Given the description of an element on the screen output the (x, y) to click on. 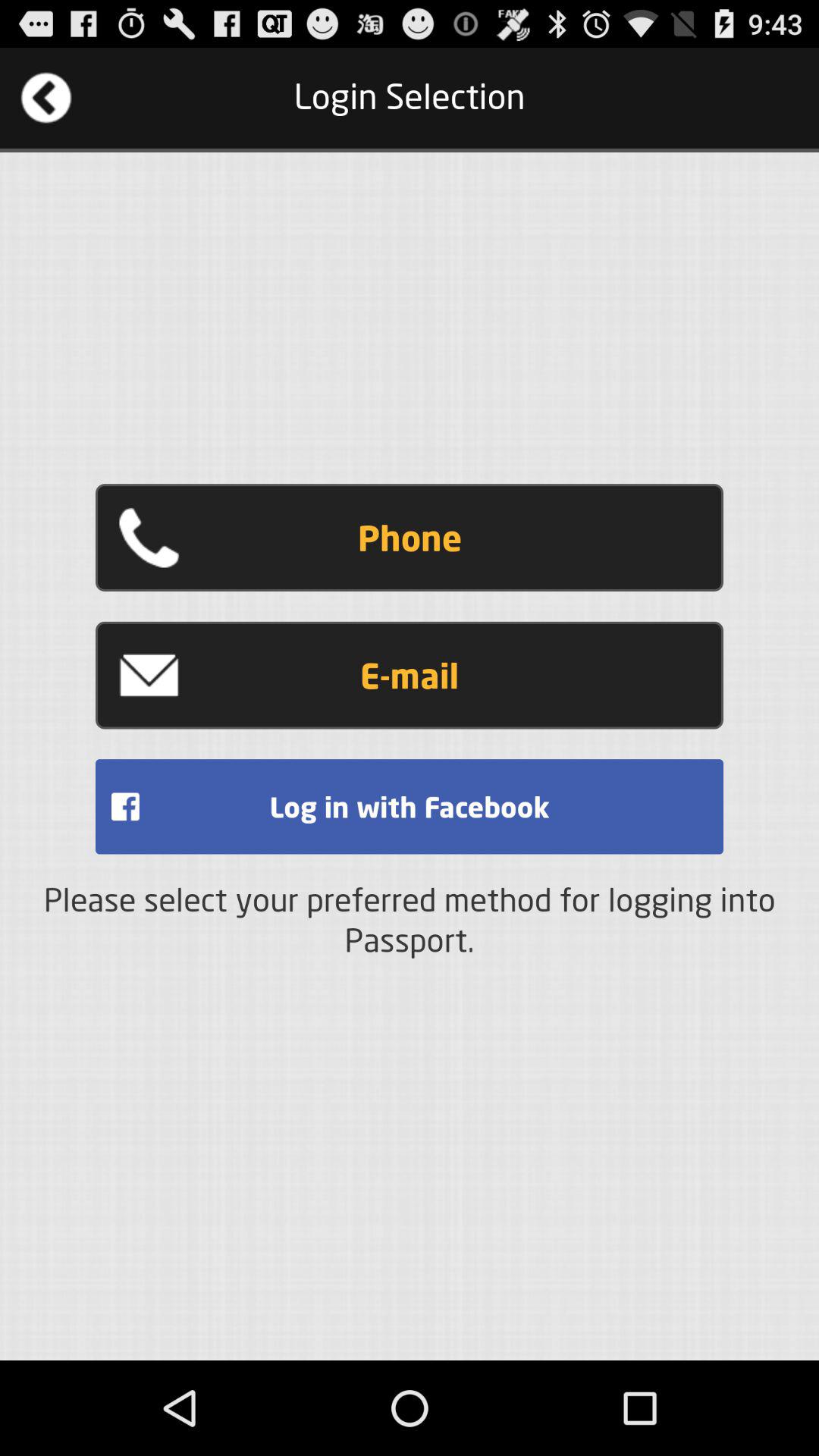
turn on icon above the please select your (409, 806)
